Given the description of an element on the screen output the (x, y) to click on. 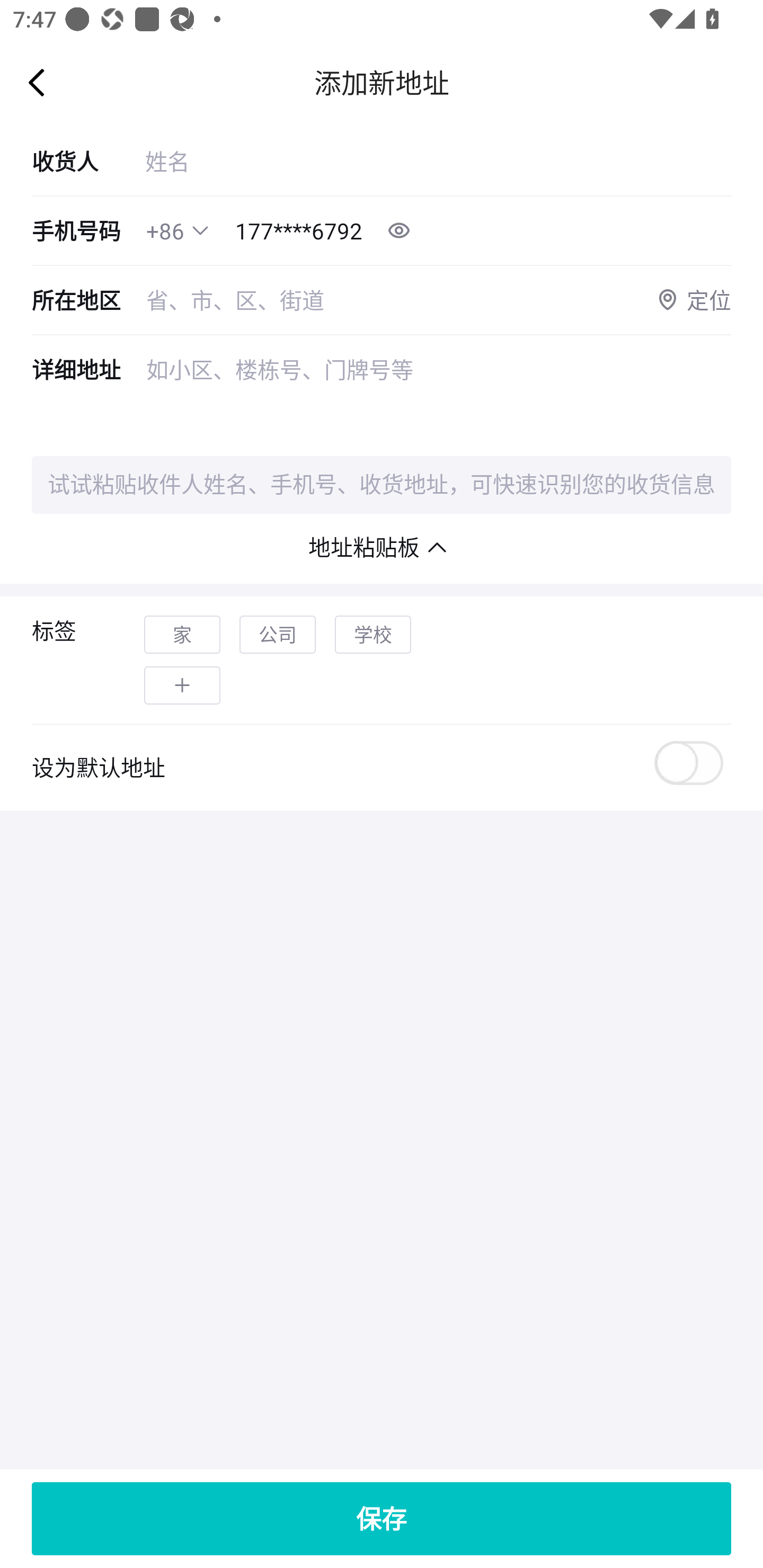
Navigate up (36, 82)
姓名 (437, 160)
+86 (165, 231)
177****6792 (298, 231)
 (199, 230)
所在地区 省、市、区、街道 定位 (381, 299)
定位 (692, 300)
如小区、楼栋号、门牌号等 (438, 395)
试试粘贴收件人姓名、手机号、收货地址，可快速识别您的收货信息 (381, 484)
地址粘贴板 (381, 546)
家 (182, 634)
公司 (277, 634)
学校 (372, 634)
 (182, 685)
保存 (381, 1518)
